Given the description of an element on the screen output the (x, y) to click on. 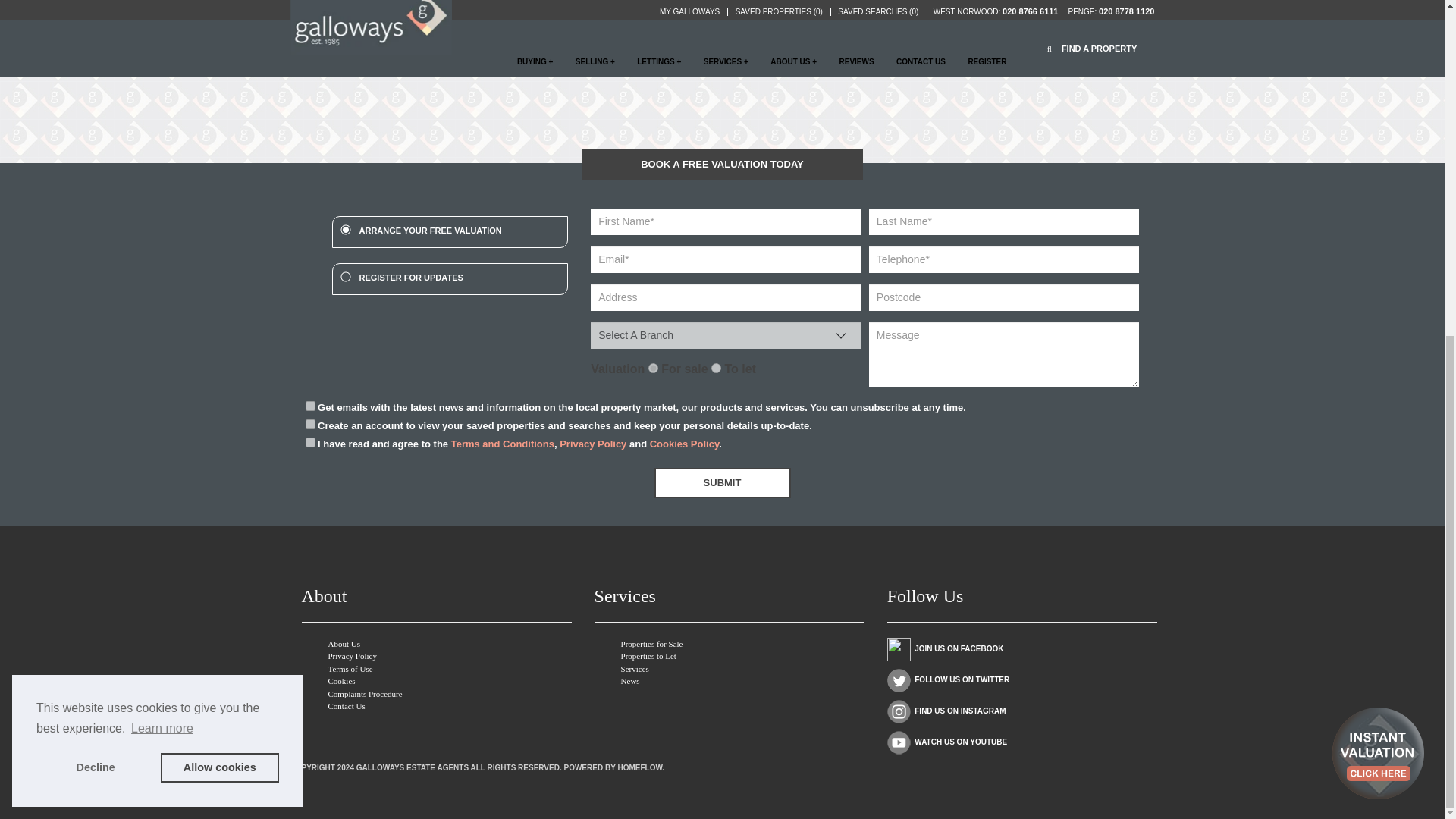
on (309, 424)
Decline (95, 204)
on (309, 406)
Learn more (162, 165)
Submit (721, 482)
sales (652, 368)
lettings (715, 368)
on (309, 442)
Allow cookies (219, 204)
